Given the description of an element on the screen output the (x, y) to click on. 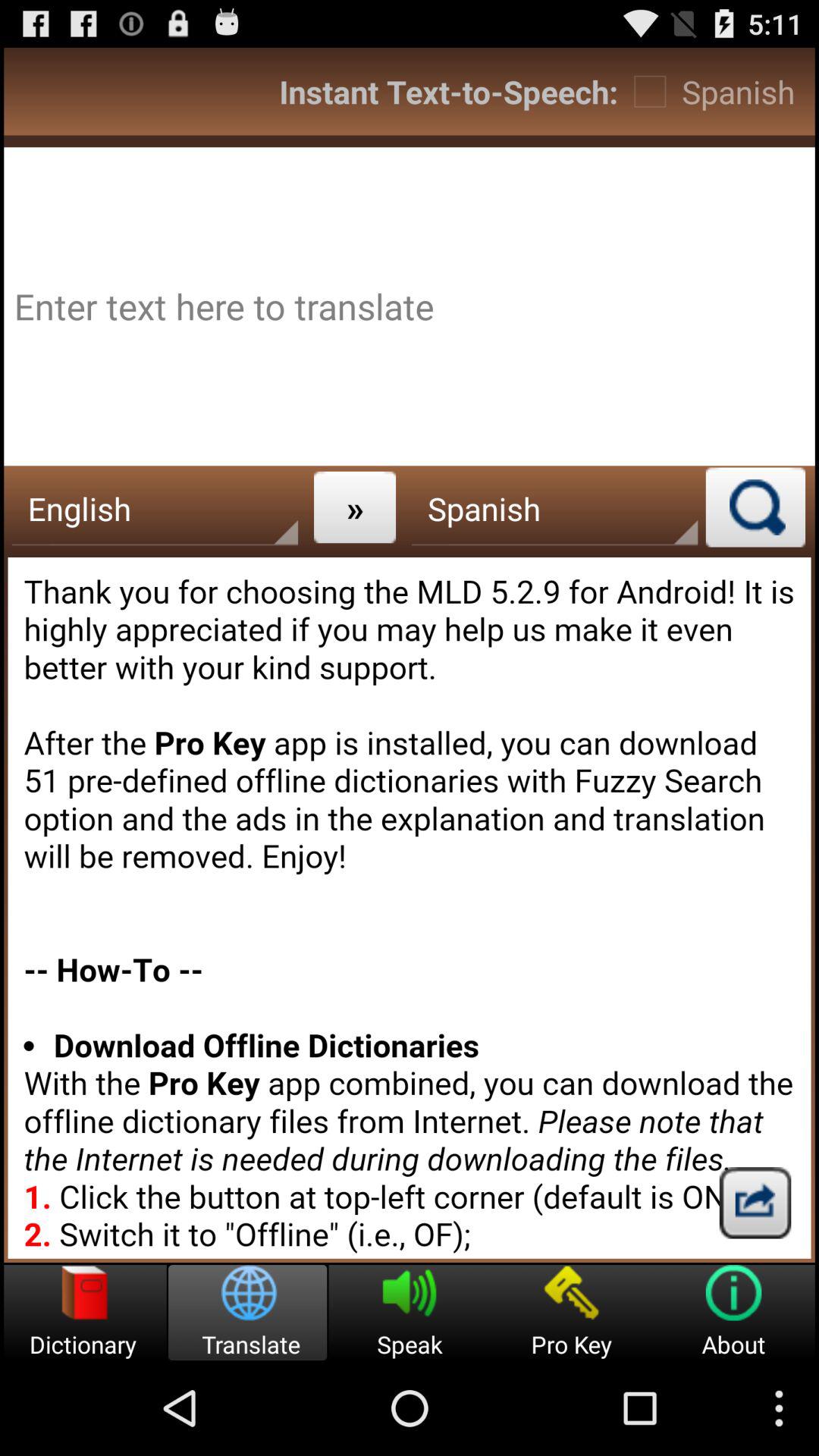
zoom page (755, 507)
